Given the description of an element on the screen output the (x, y) to click on. 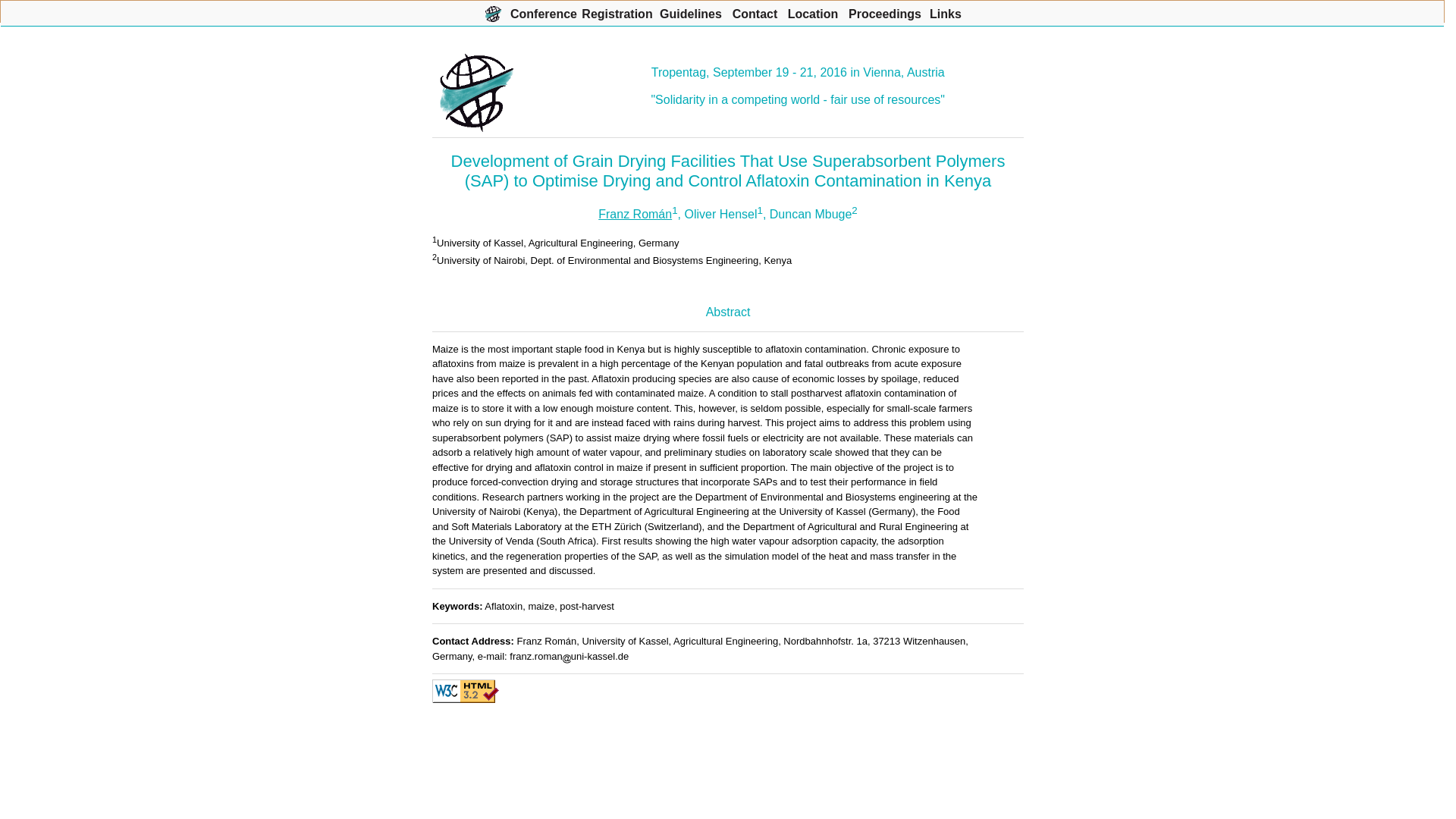
Location (813, 11)
Guidelines (689, 11)
Proceedings (885, 11)
Contact (754, 11)
Links (944, 11)
Registration (616, 11)
Conference (542, 11)
Tropentag 2024 (493, 11)
